Given the description of an element on the screen output the (x, y) to click on. 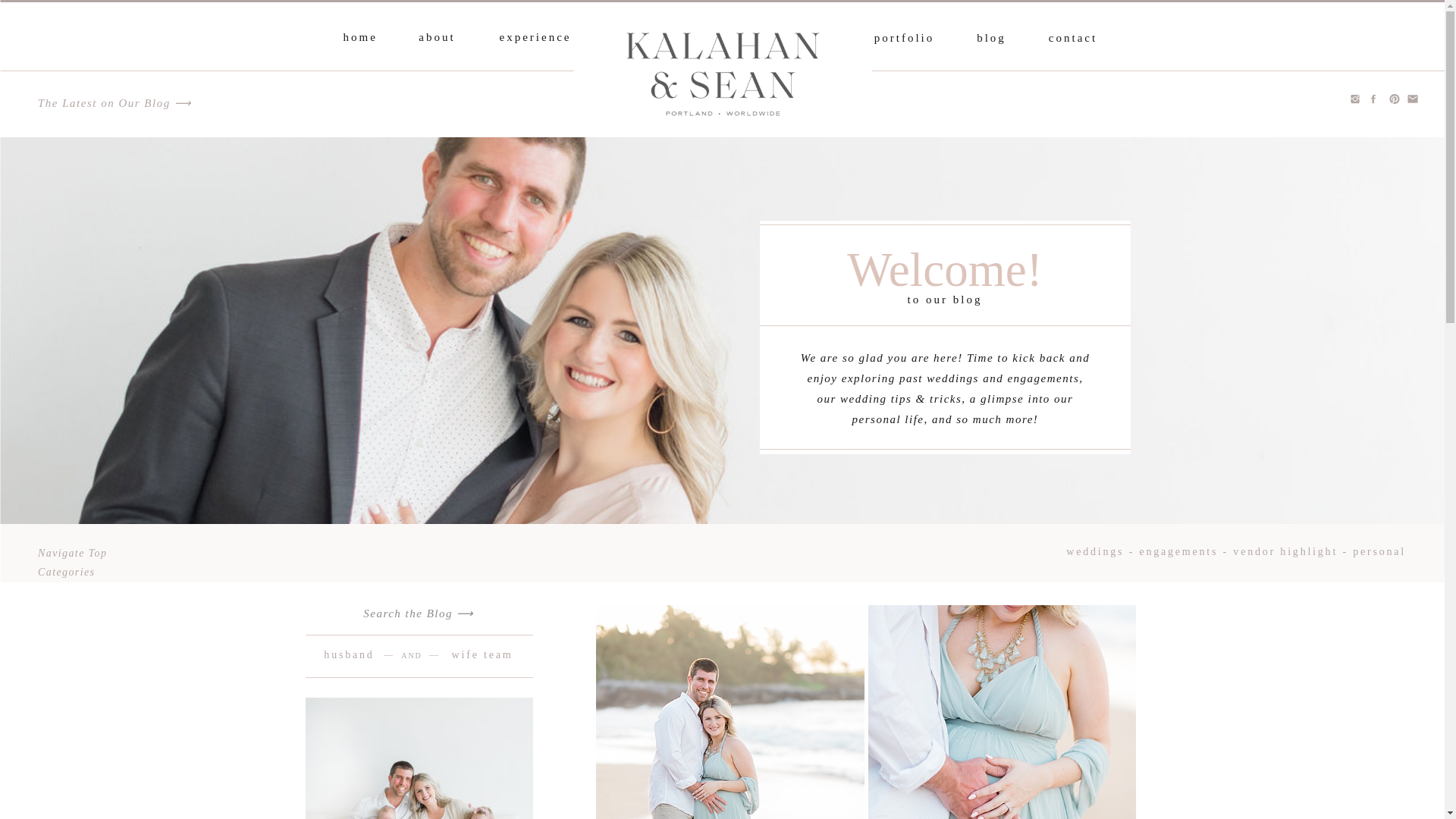
blog (992, 38)
home (358, 37)
personal (1379, 551)
weddings (1094, 551)
experience (534, 37)
vendor highlight (1285, 551)
contact (1072, 38)
engagements (1177, 551)
Our Maternity Session in Maui (864, 712)
portfolio (903, 38)
about (438, 37)
